Given the description of an element on the screen output the (x, y) to click on. 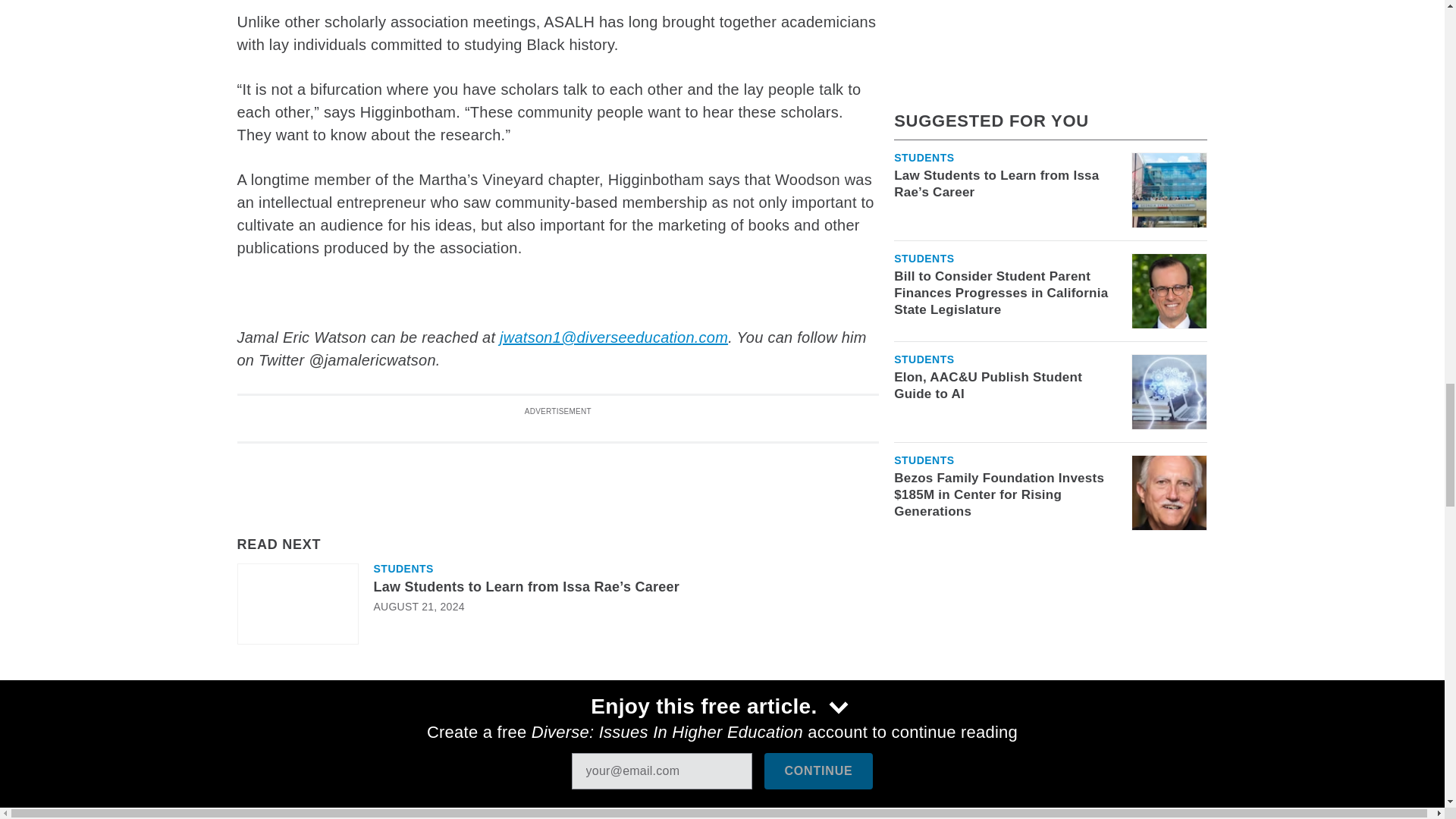
Share To facebook (290, 695)
Share To print (250, 695)
Students (402, 568)
